Given the description of an element on the screen output the (x, y) to click on. 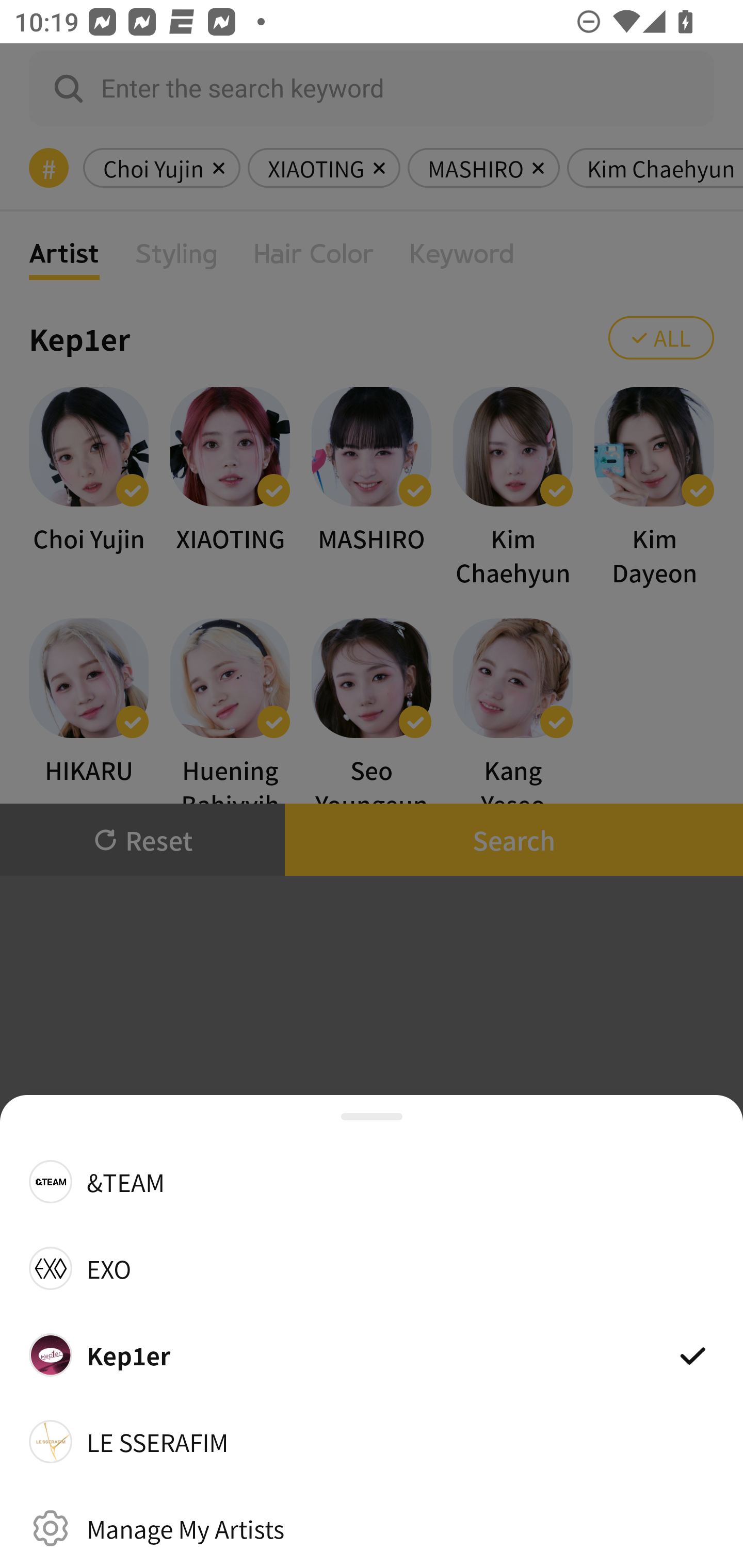
&TEAM (371, 1181)
EXO (371, 1268)
Kep1er (371, 1354)
LE SSERAFIM (371, 1441)
